Given the description of an element on the screen output the (x, y) to click on. 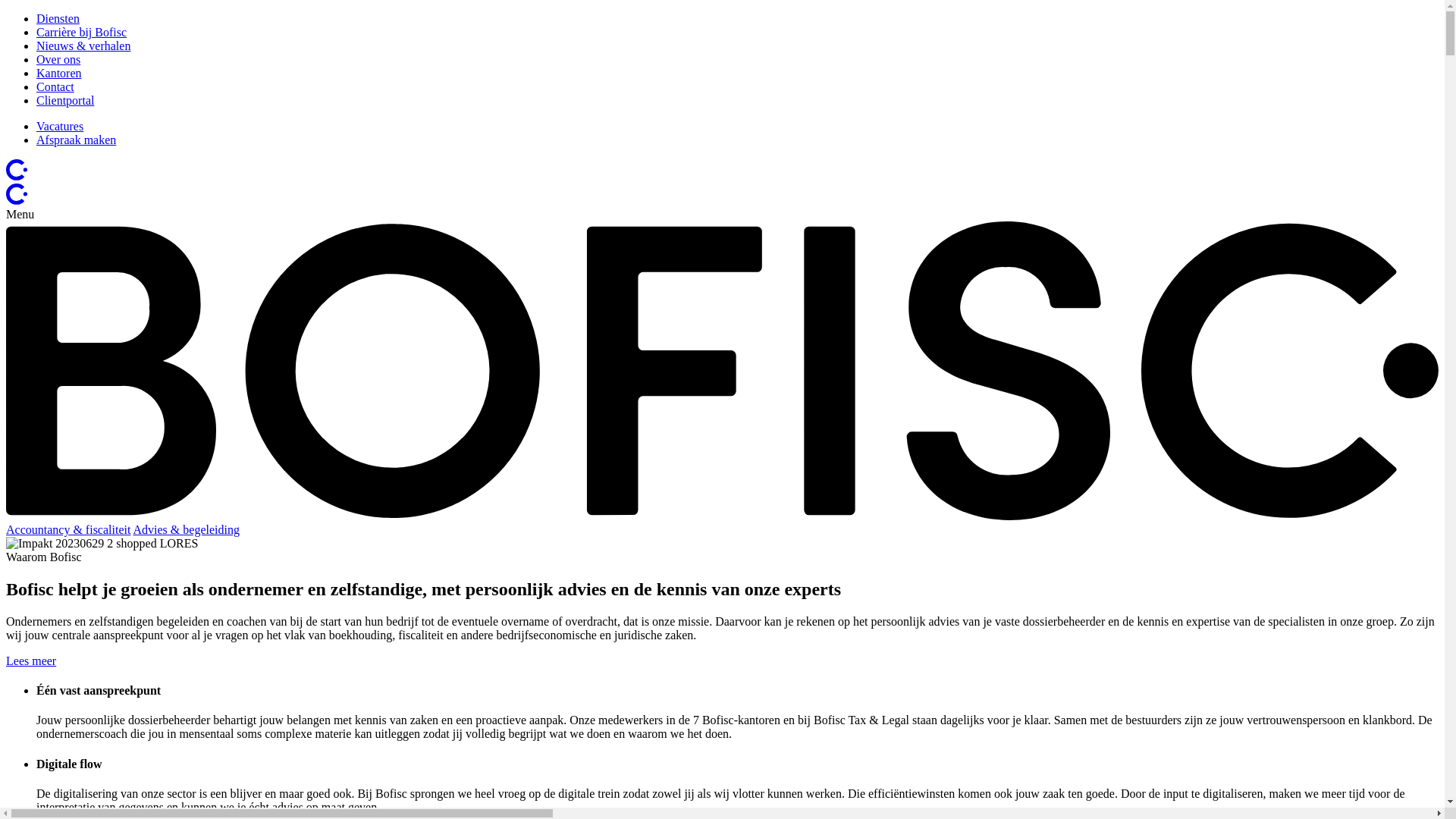
Afspraak maken Element type: text (76, 139)
Over ons Element type: text (58, 59)
Vacatures Element type: text (59, 125)
Clientportal Element type: text (65, 100)
Kantoren Element type: text (58, 72)
Diensten Element type: text (57, 18)
Advies & begeleiding Element type: text (186, 529)
Contact Element type: text (55, 86)
Nieuws & verhalen Element type: text (83, 45)
Accountancy & fiscaliteit Element type: text (68, 529)
Lees meer Element type: text (31, 660)
